Given the description of an element on the screen output the (x, y) to click on. 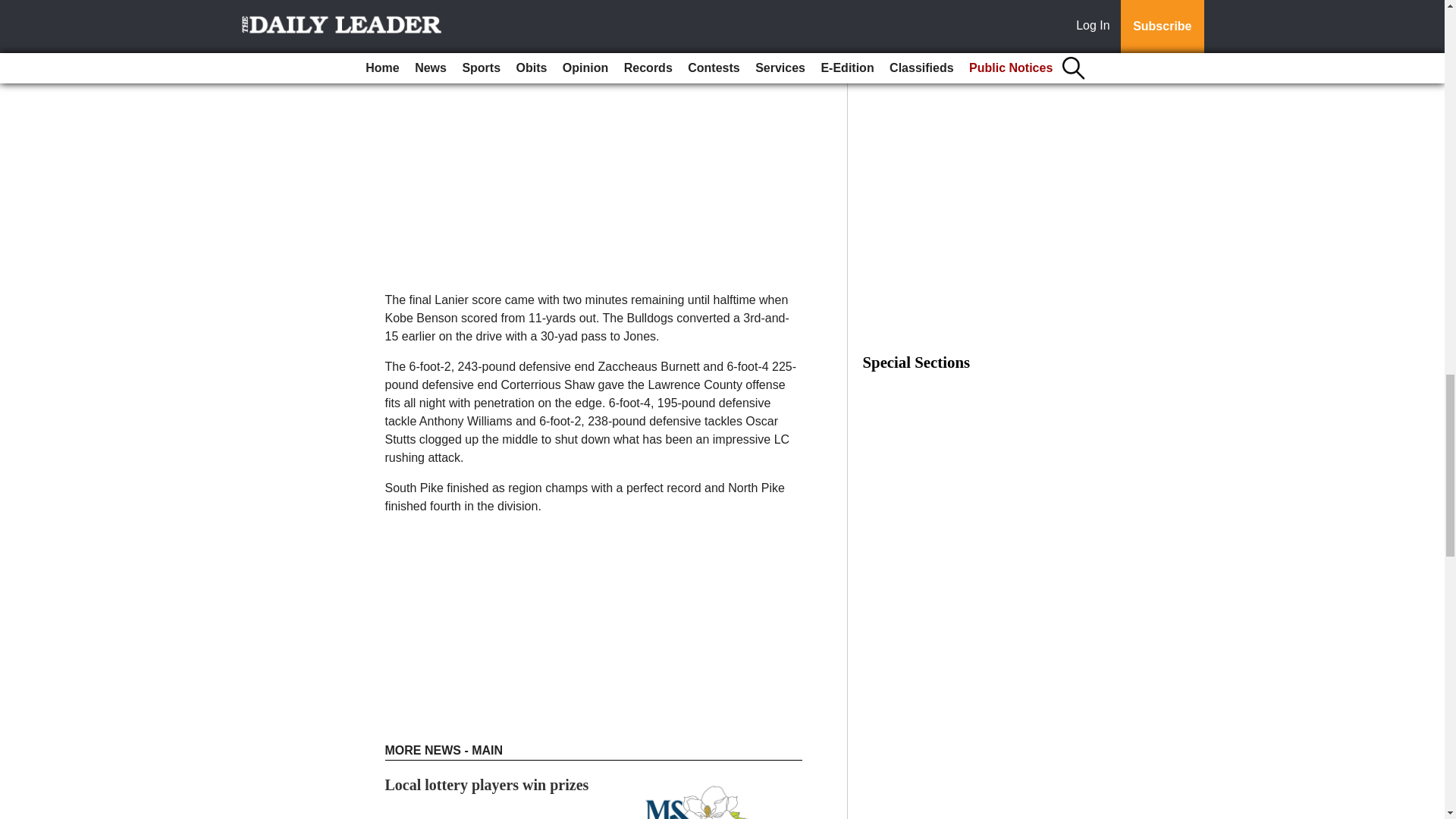
Local lottery players win prizes (487, 784)
Local lottery players win prizes (487, 784)
